Given the description of an element on the screen output the (x, y) to click on. 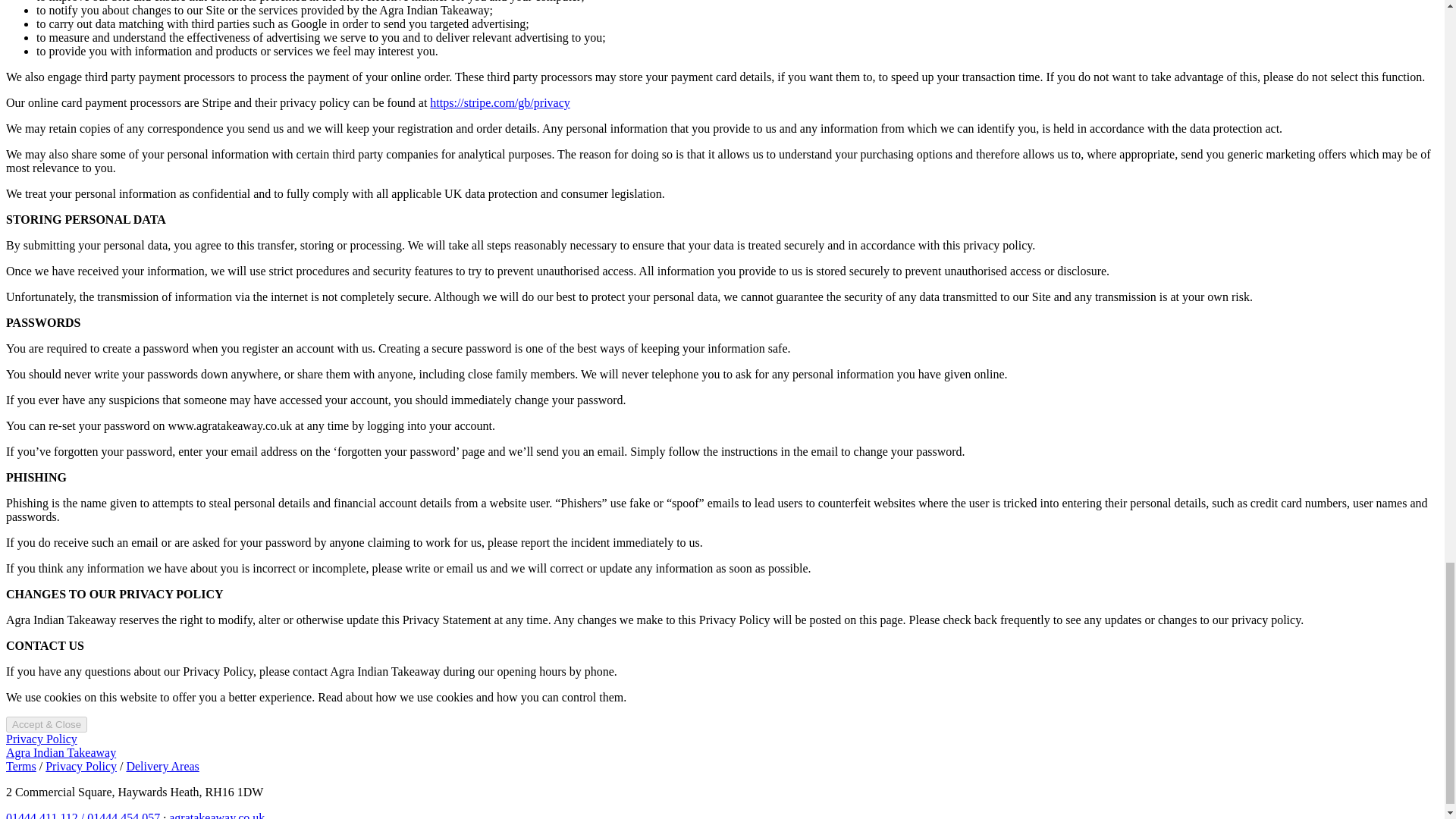
Agra Indian Takeaway (60, 752)
Terms (20, 766)
Privacy Policy (41, 738)
Delivery Areas (161, 766)
Privacy Policy (80, 766)
